Given the description of an element on the screen output the (x, y) to click on. 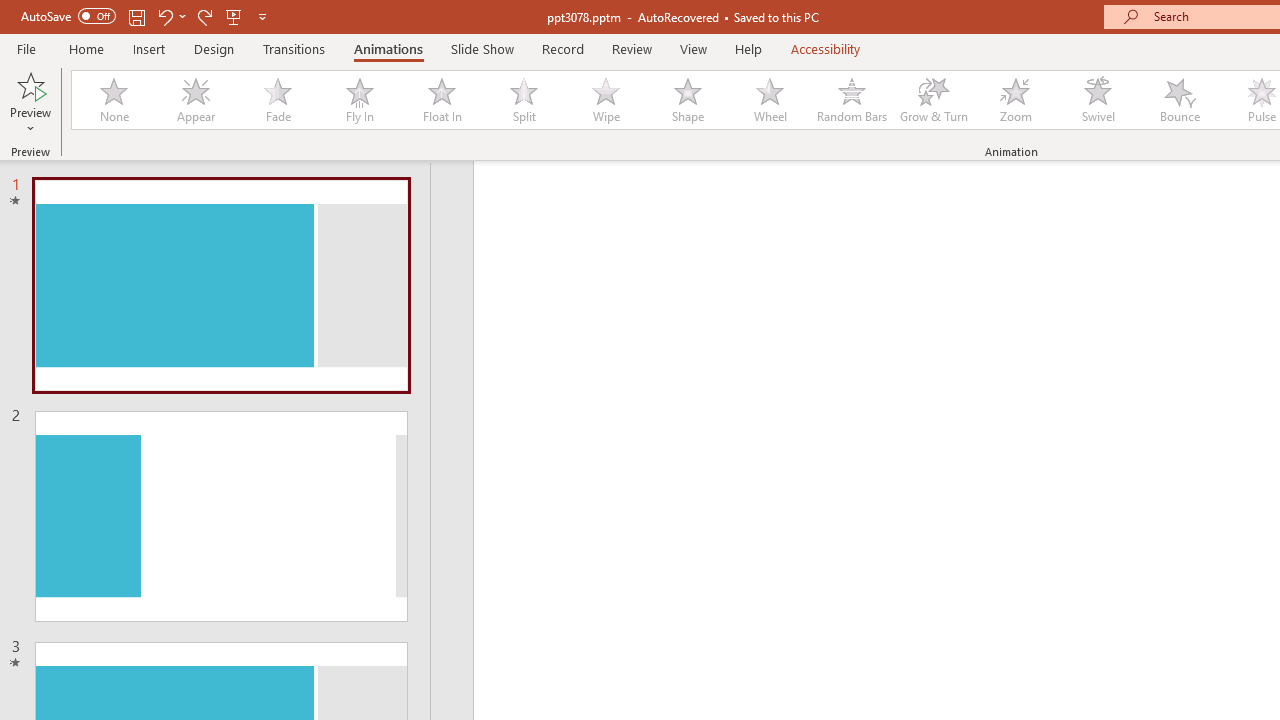
Fade (277, 100)
Wipe (605, 100)
Wheel (770, 100)
Swivel (1098, 100)
Split (523, 100)
